Given the description of an element on the screen output the (x, y) to click on. 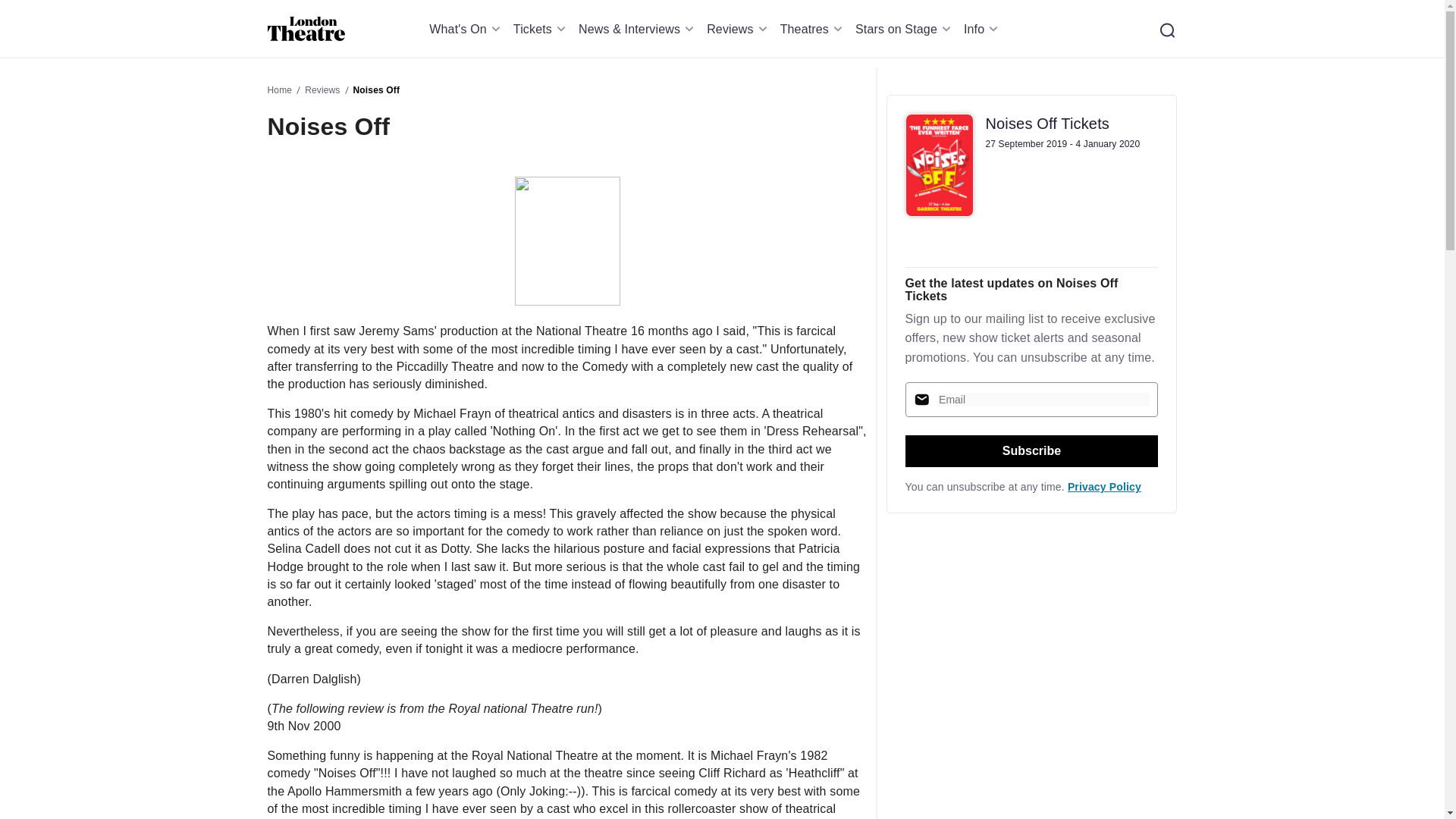
Tickets (541, 28)
What's On (467, 28)
Reviews (739, 28)
Home (305, 28)
